Given the description of an element on the screen output the (x, y) to click on. 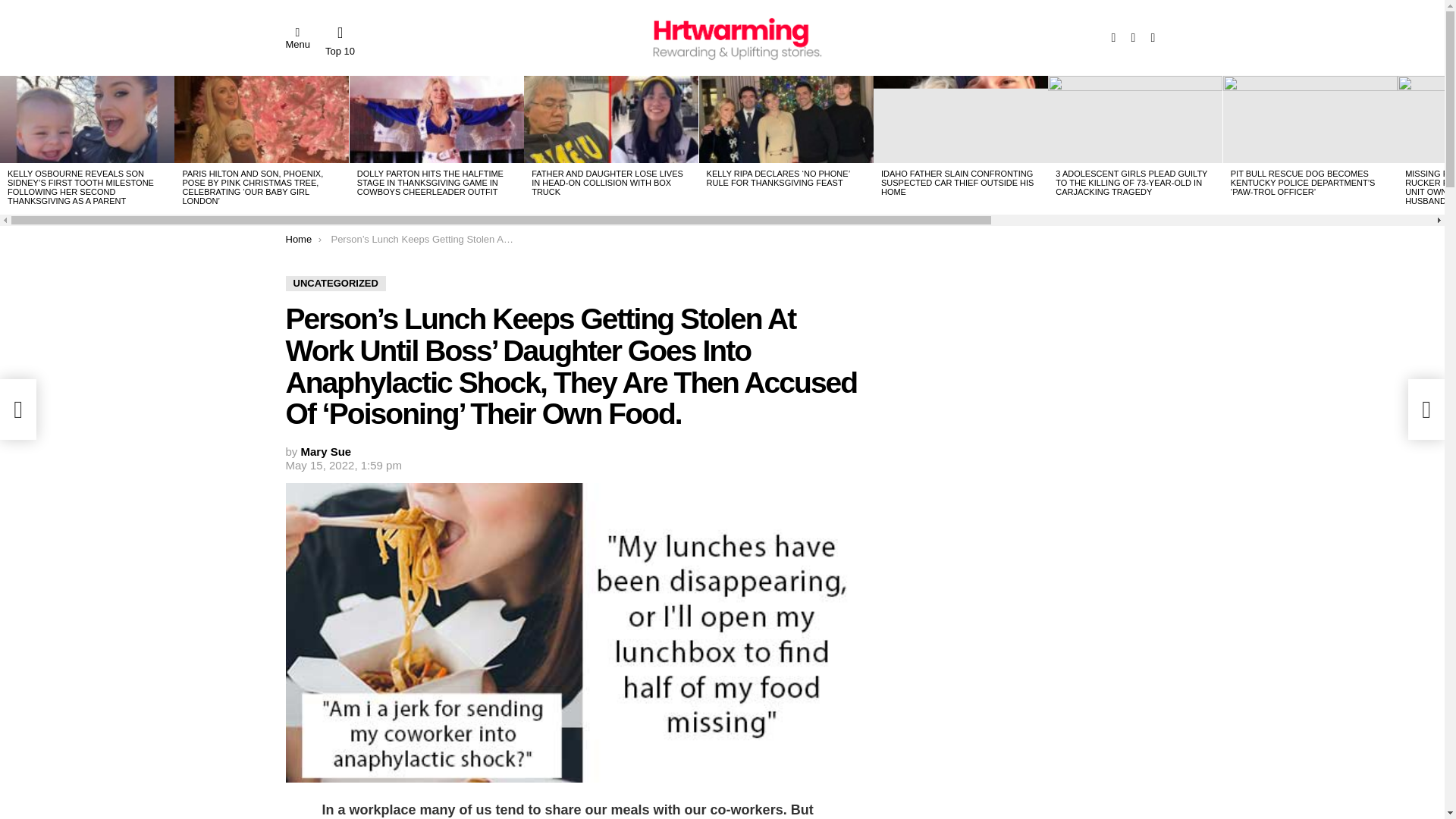
Top 10 (339, 40)
Posts by Mary Sue (326, 451)
UNCATEGORIZED (335, 283)
Home (298, 238)
